Given the description of an element on the screen output the (x, y) to click on. 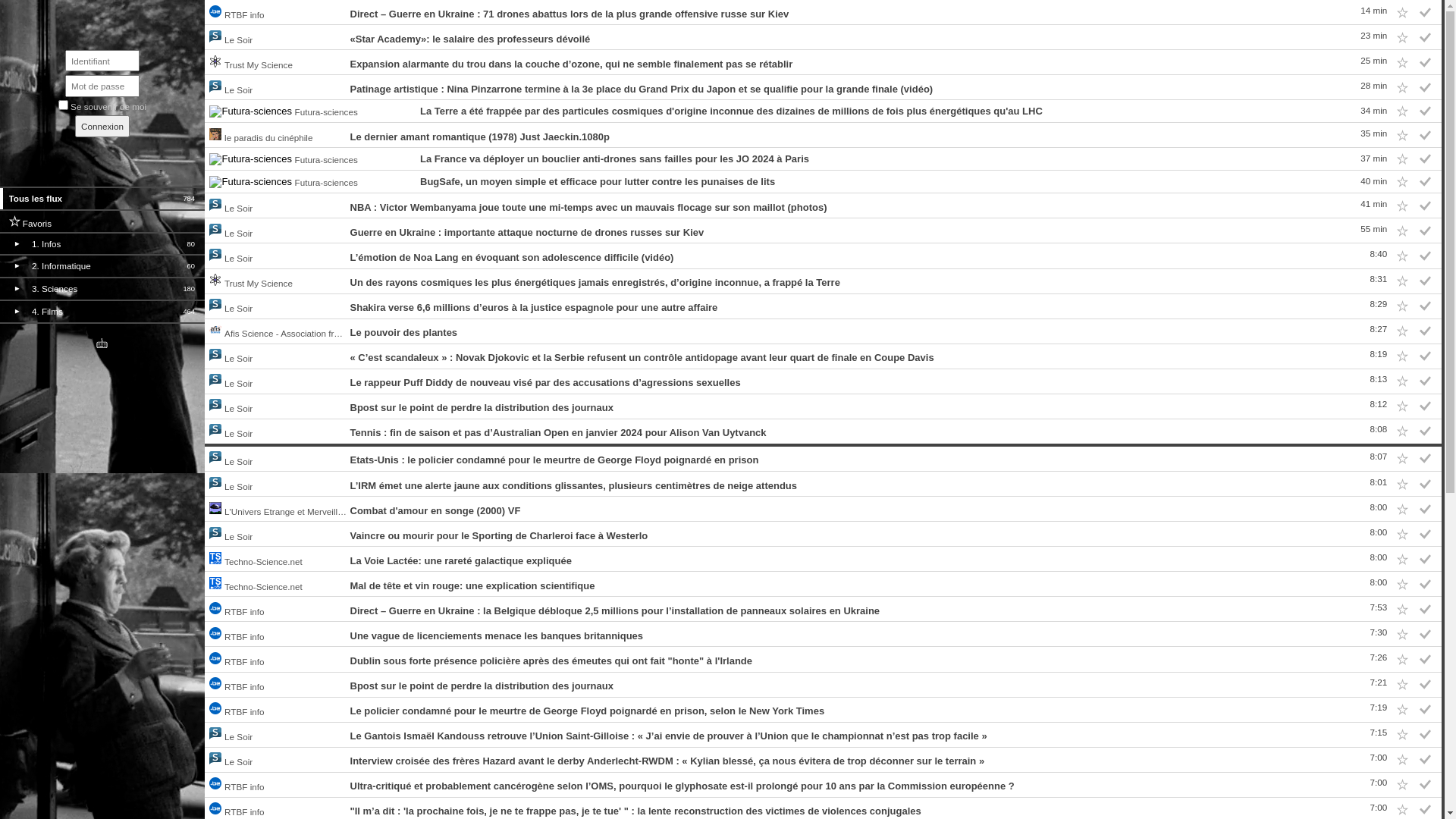
Montrer la liste des flux du dossier 1. Infos Element type: hover (18, 240)
80
non lus Element type: text (190, 244)
Favoriser Element type: hover (1401, 255)
Favoriser Element type: hover (1401, 759)
Favoriser Element type: hover (1401, 306)
Favoriser Element type: hover (1401, 483)
Favoriser Element type: hover (1401, 230)
Favoriser Element type: hover (1401, 87)
Favoriser Element type: hover (1401, 683)
Le pouvoir des plantes Element type: text (404, 332)
Une vague de licenciements menace les banques britanniques Element type: text (496, 635)
Favoriser Element type: hover (1401, 280)
Favoriser Element type: hover (1401, 431)
Favoriser Element type: hover (1401, 533)
Favoriser Element type: hover (1401, 458)
Favoriser Element type: hover (1401, 62)
Favoriser Element type: hover (1401, 381)
Favoriser Element type: hover (1401, 784)
Combat d'amour en songe (2000) VF Element type: text (435, 510)
Favoriser Element type: hover (1401, 158)
Tous les flux Element type: text (92, 198)
4. Films Element type: text (103, 311)
Favoriser Element type: hover (1401, 633)
Favoriser Element type: hover (1401, 608)
784
non lus Element type: text (188, 198)
Favoriser Element type: hover (1401, 37)
Montrer la liste des flux du dossier 4. Films Element type: hover (18, 307)
Connexion Element type: text (102, 126)
1. Infos Element type: text (105, 244)
Favoriser Element type: hover (1401, 508)
Bpost sur le point de perdre la distribution des journaux Element type: text (481, 685)
Montrer la liste des flux du dossier 3. Sciences Element type: hover (18, 285)
Favoriser Element type: hover (1401, 331)
Favoriser Element type: hover (1401, 658)
Favoriser Element type: hover (1401, 111)
Icone des raccourcis Element type: text (102, 344)
Favoriser Element type: hover (1401, 583)
60
non lus Element type: text (190, 266)
Favoriser Element type: hover (1401, 709)
Favoriser Element type: hover (1401, 406)
Montrer la liste des flux du dossier 2. Informatique  Element type: hover (18, 263)
Favoriser Element type: hover (1401, 734)
Favoriser Element type: hover (1401, 356)
Favoriser Element type: hover (1401, 12)
2. Informatique Element type: text (105, 266)
Le dernier amant romantique (1978) Just Jaeckin.1080p Element type: text (479, 136)
Favoriser Element type: hover (1401, 205)
464
non lus Element type: text (188, 311)
Favoriser Element type: hover (1401, 558)
180
non lus Element type: text (188, 288)
Bpost sur le point de perdre la distribution des journaux Element type: text (481, 407)
Favoris Element type: text (102, 221)
3. Sciences Element type: text (103, 288)
Favoriser Element type: hover (1401, 181)
Favoriser Element type: hover (1401, 134)
